Given the description of an element on the screen output the (x, y) to click on. 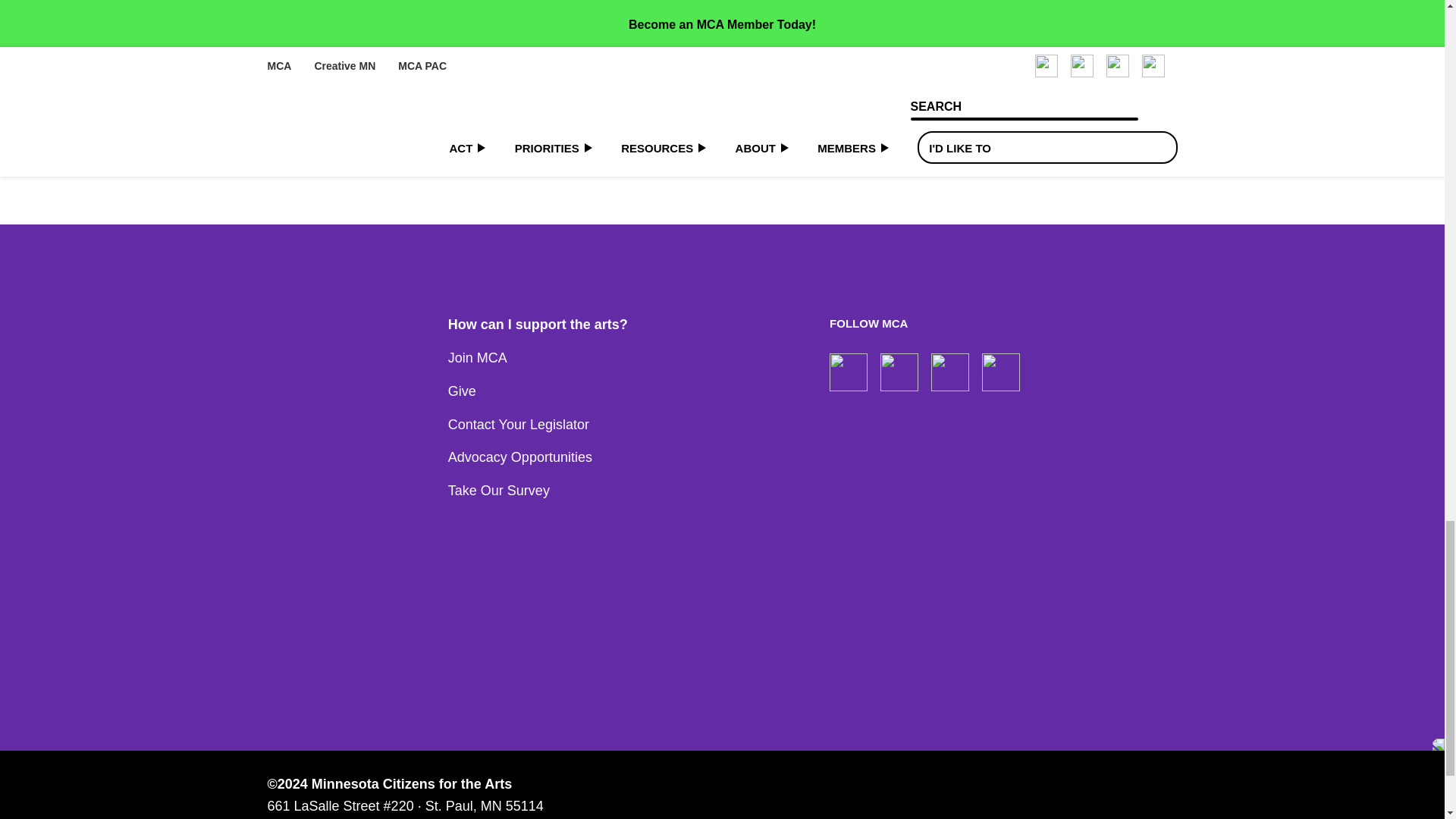
Instagram (899, 371)
YouTube video player (478, 78)
YouTube (950, 371)
Twitter (1000, 371)
Facebook (848, 371)
